Given the description of an element on the screen output the (x, y) to click on. 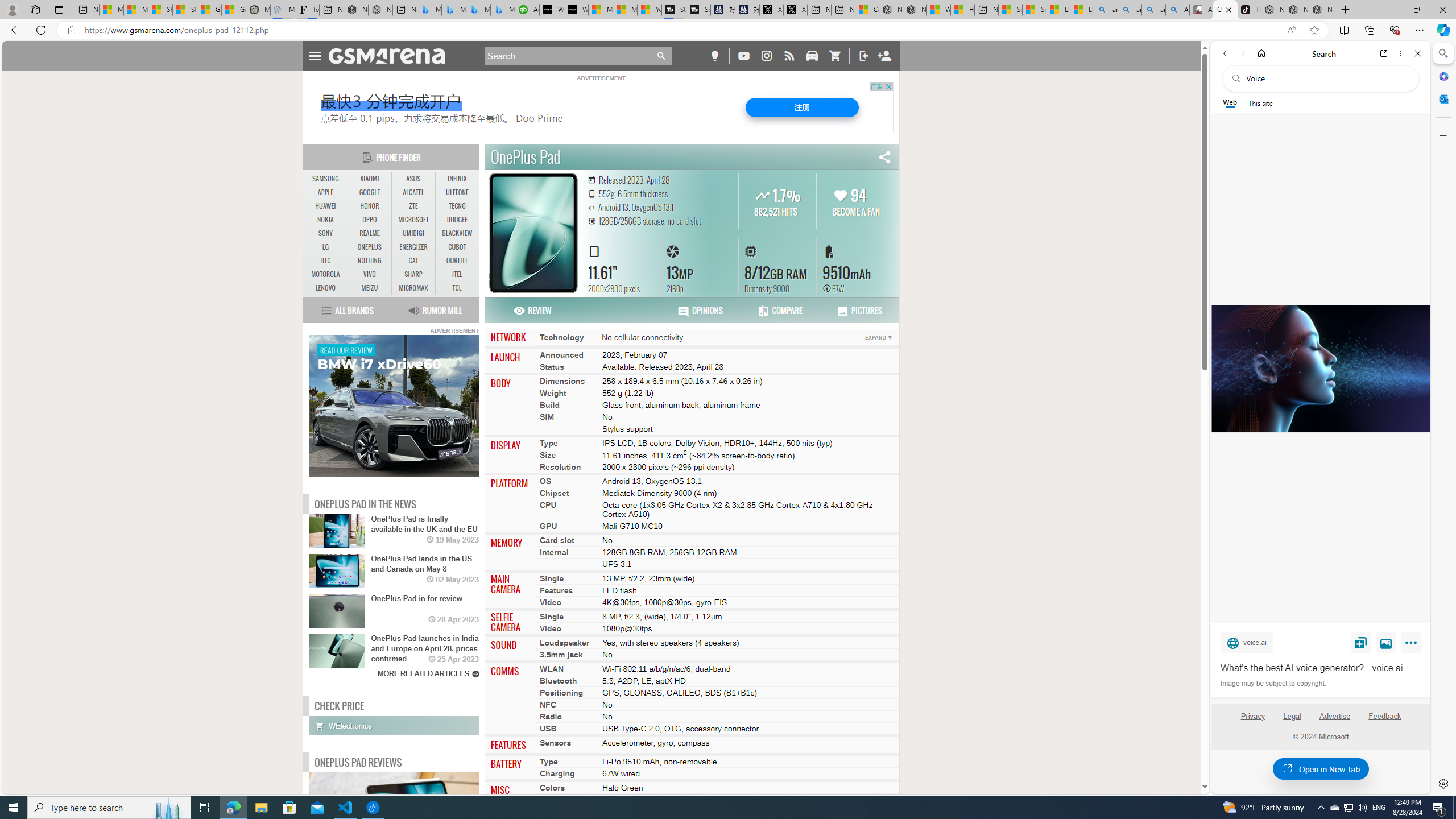
ULEFONE (457, 192)
GOOGLE (369, 192)
CUBOT (457, 246)
HUAWEI (325, 205)
Charging (557, 773)
OnePlus Pad - Full tablet specifications (1224, 9)
VIVO (369, 273)
NOKIA (325, 219)
LENOVO (325, 287)
